Given the description of an element on the screen output the (x, y) to click on. 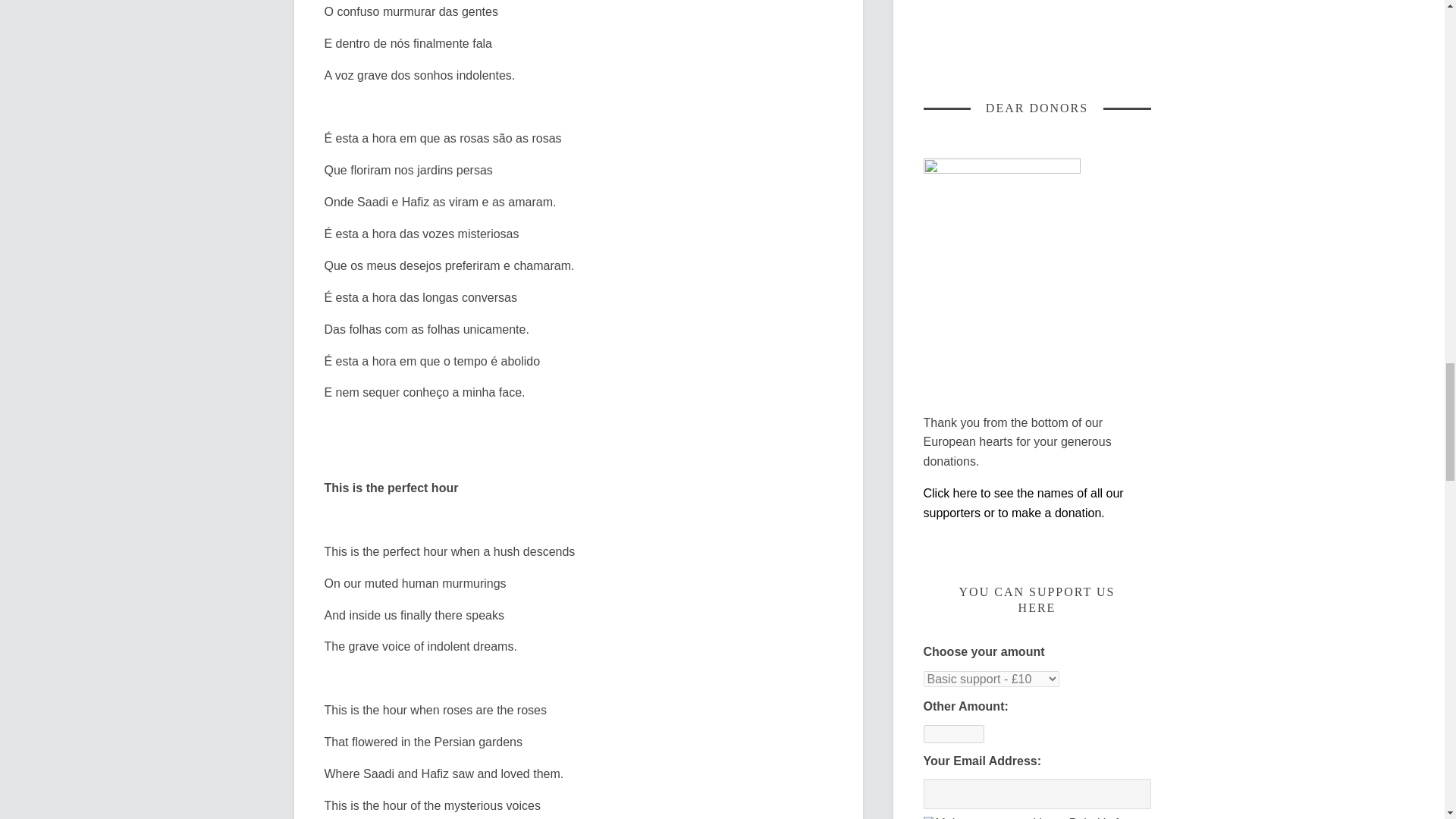
Other Amount (953, 733)
